Given the description of an element on the screen output the (x, y) to click on. 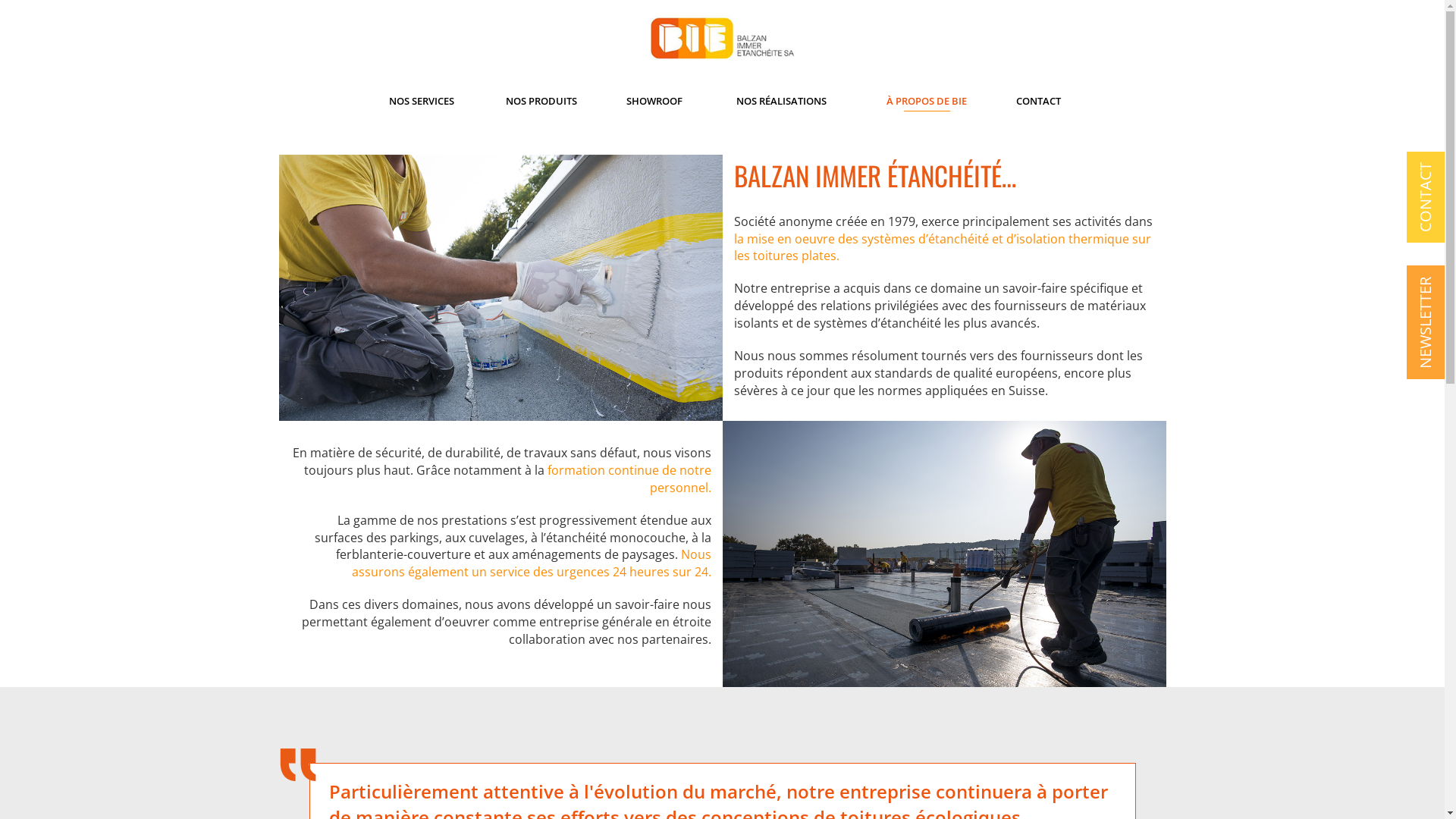
NOS PRODUITS Element type: text (541, 100)
CONTACT Element type: text (1038, 100)
NOS SERVICES Element type: text (421, 100)
SHOWROOF Element type: text (654, 100)
CONTACT Element type: text (1425, 196)
